Given the description of an element on the screen output the (x, y) to click on. 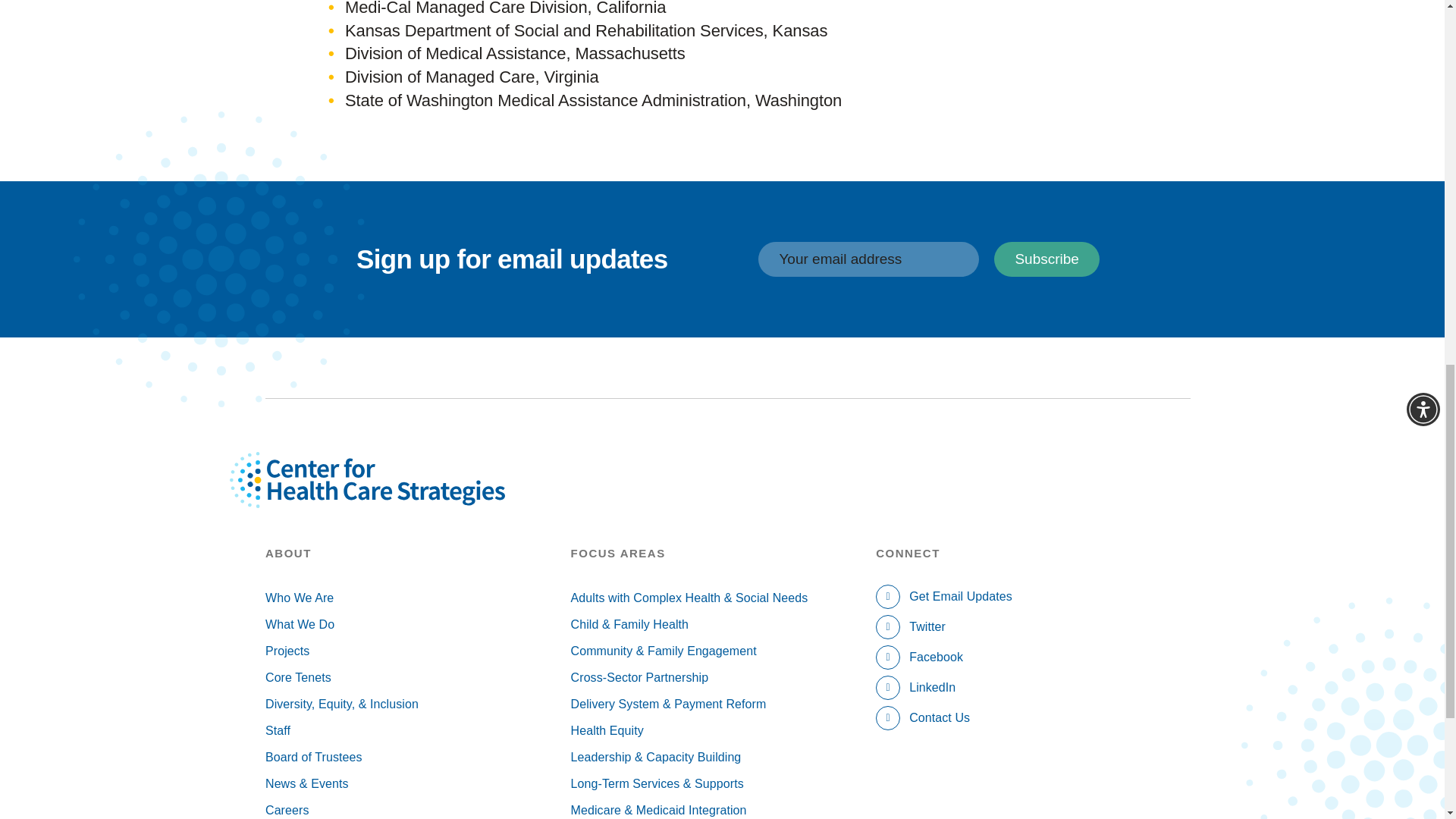
About (417, 553)
Center for Health Care Strategies (402, 497)
Who We Are (417, 597)
Focus Areas (723, 553)
Board of Trustees (417, 756)
What We Do (417, 624)
Projects (417, 651)
Staff (417, 730)
Careers (417, 807)
Core Tenets (417, 677)
